Given the description of an element on the screen output the (x, y) to click on. 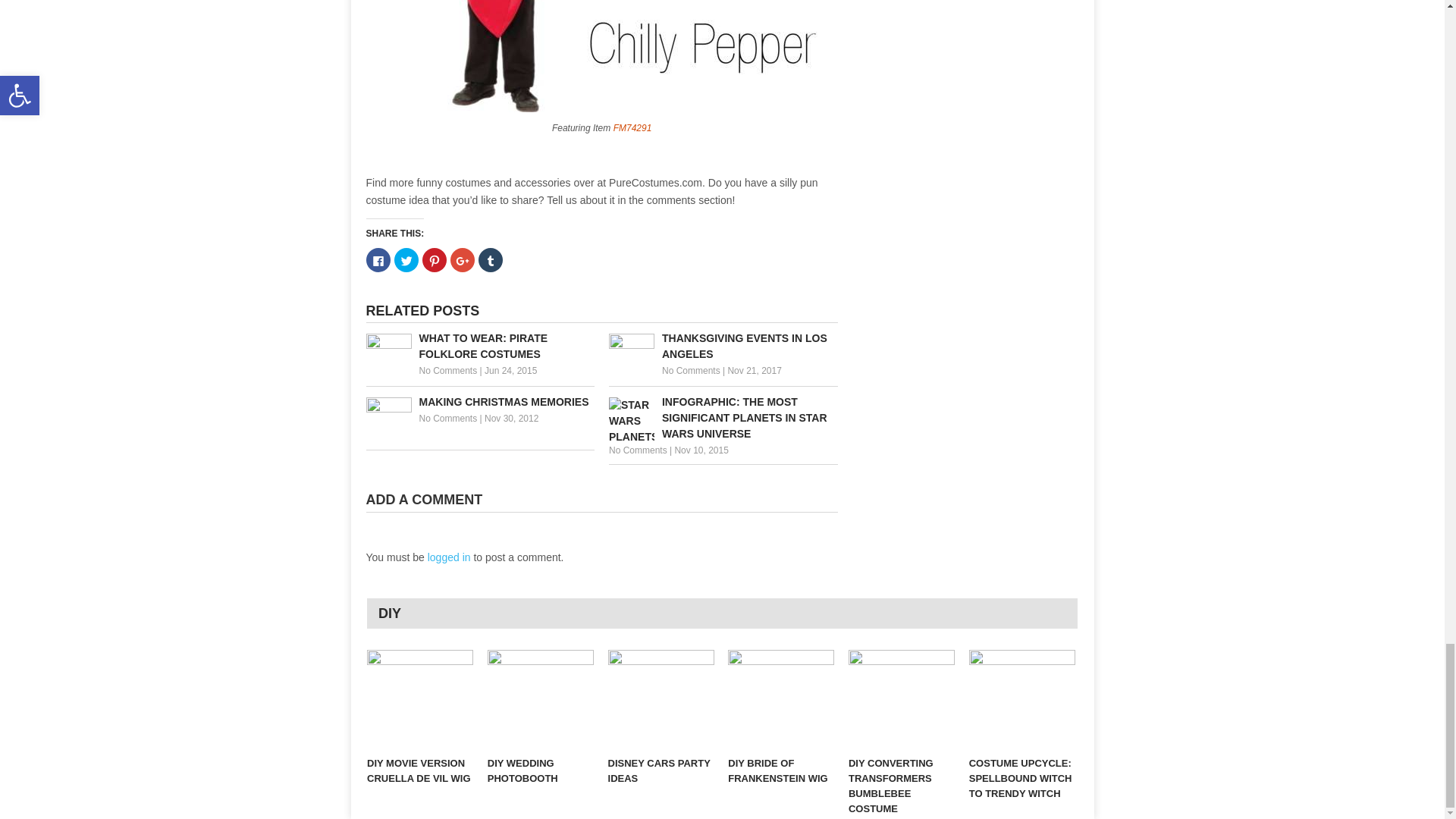
Click to share on Twitter (406, 259)
No Comments (448, 370)
No Comments (448, 418)
FM74291 (632, 127)
THANKSGIVING EVENTS IN LOS ANGELES (723, 346)
Thanksgiving Events in Los Angeles (723, 346)
No Comments (691, 370)
Making Christmas Memories (479, 401)
What to Wear: Pirate Folklore Costumes (479, 346)
Click to share on Pinterest (433, 259)
WHAT TO WEAR: PIRATE FOLKLORE COSTUMES (479, 346)
Click to share on Facebook (377, 259)
Click to share on Tumblr (489, 259)
MAKING CHRISTMAS MEMORIES (479, 401)
